Given the description of an element on the screen output the (x, y) to click on. 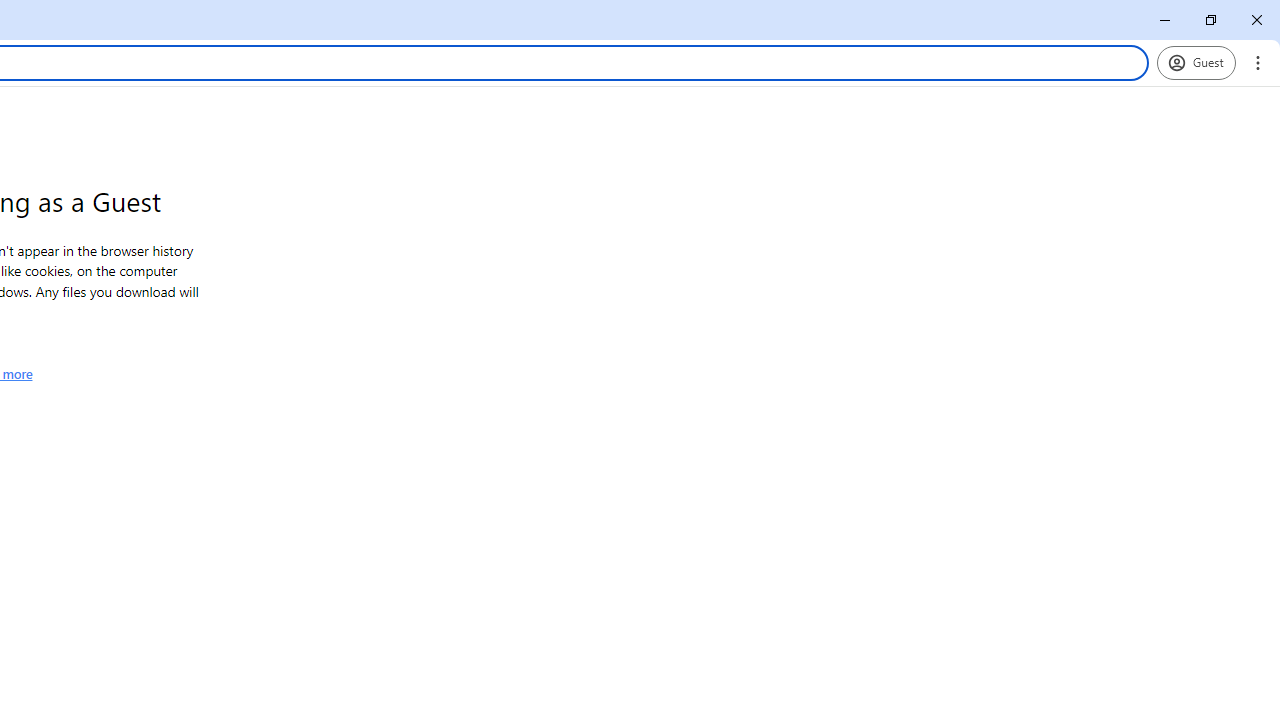
Guest (1196, 62)
